Given the description of an element on the screen output the (x, y) to click on. 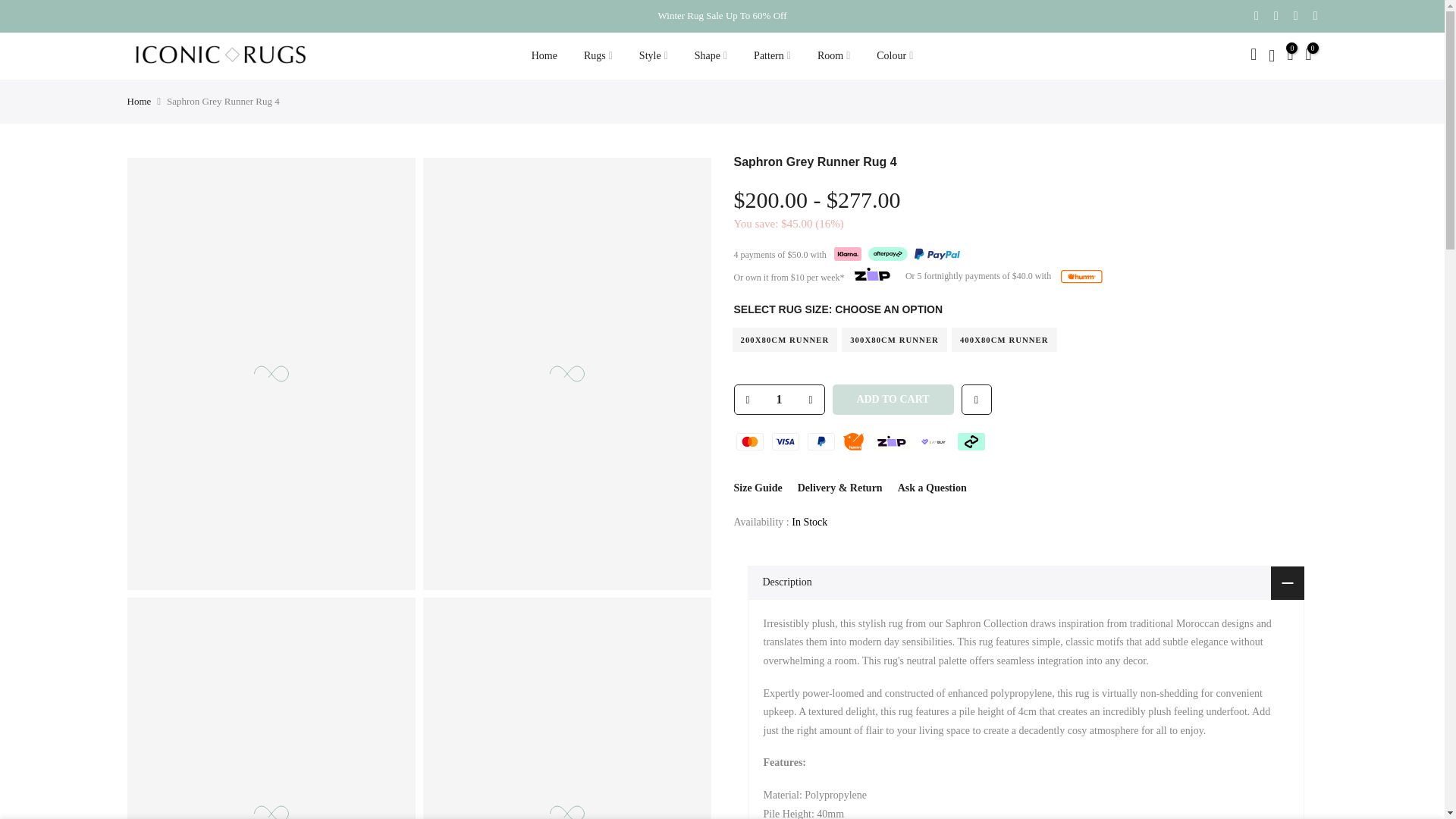
ADD TO CART (892, 399)
Home (139, 101)
Home (544, 55)
Klarna badge (847, 254)
Room (833, 55)
0 (1289, 55)
Pattern (773, 55)
Shape (710, 55)
Size Guide (758, 487)
Description (1026, 582)
Colour (894, 55)
Style (653, 55)
Ask a Question (932, 487)
1 (778, 399)
Rugs (598, 55)
